Given the description of an element on the screen output the (x, y) to click on. 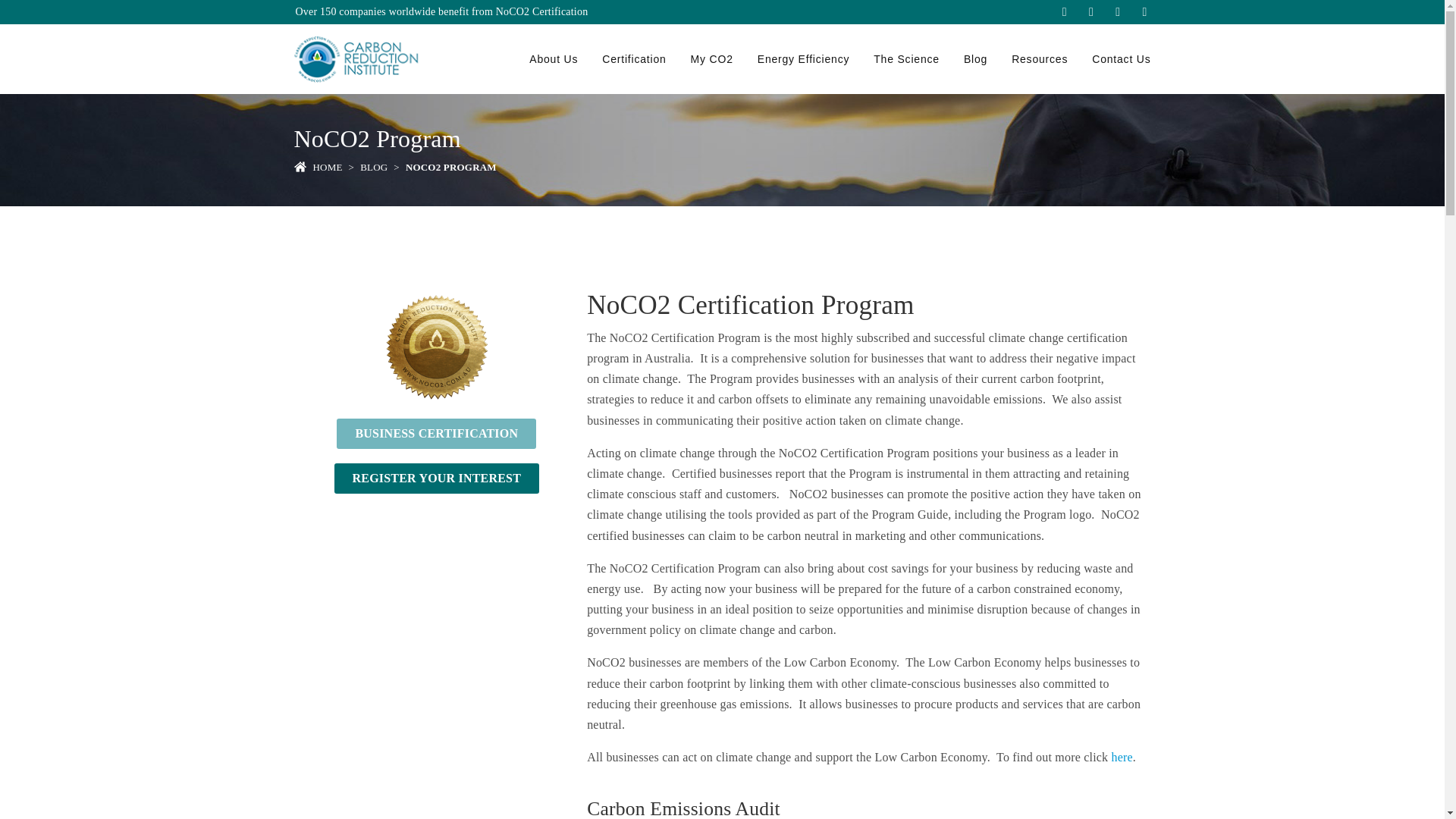
My CO2 (711, 59)
The Science (906, 59)
Contact Us (1120, 59)
Certification (633, 59)
Energy Efficiency (803, 59)
About Us (552, 59)
Resources (1039, 59)
